Given the description of an element on the screen output the (x, y) to click on. 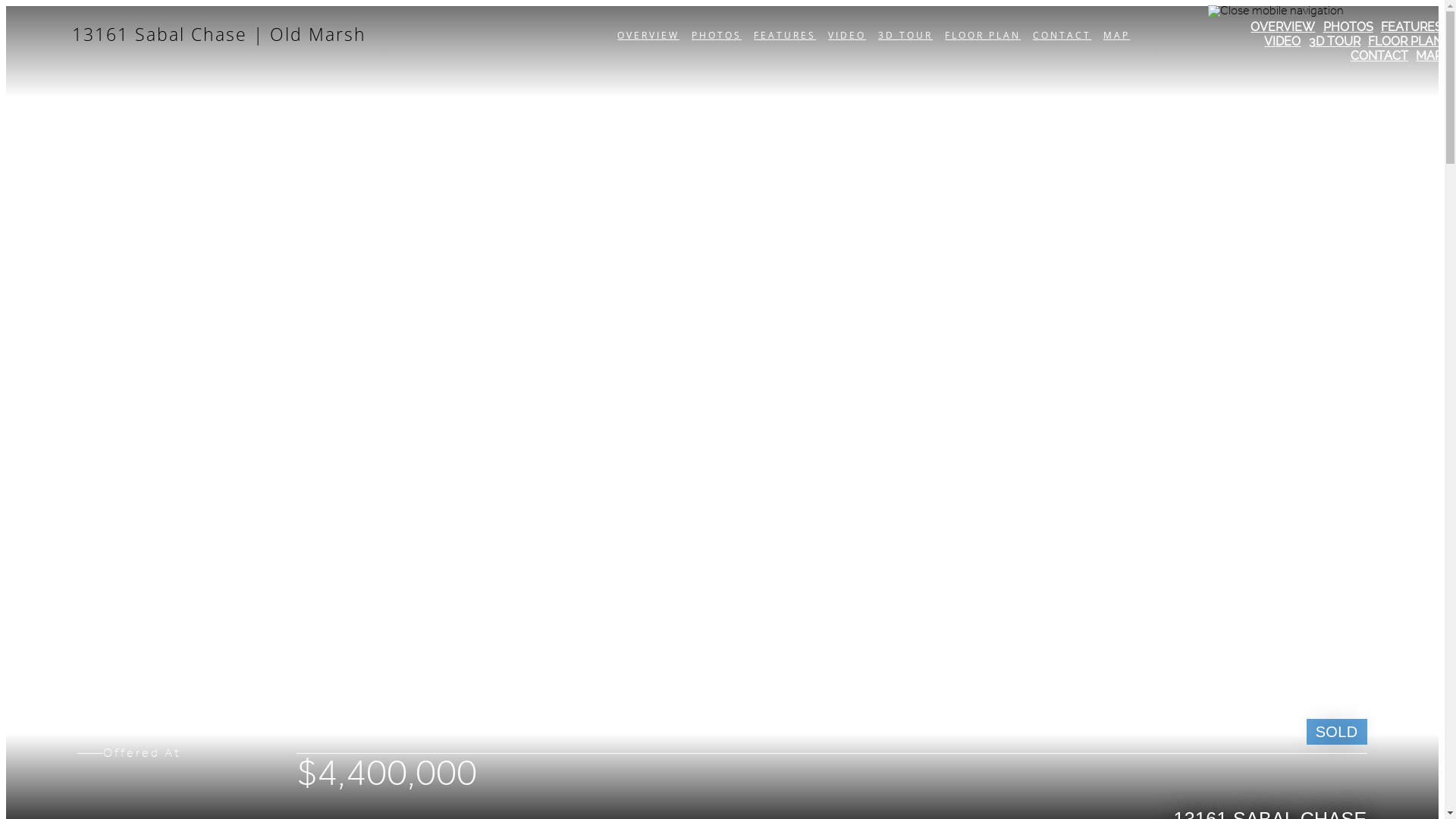
FEATURES Element type: text (784, 34)
VIDEO Element type: text (847, 34)
VIDEO Element type: text (1282, 41)
FEATURES Element type: text (1411, 26)
CONTACT Element type: text (1061, 34)
PHOTOS Element type: text (1348, 26)
OVERVIEW Element type: text (1282, 26)
PHOTOS Element type: text (716, 34)
3D TOUR Element type: text (1334, 41)
MAP Element type: text (1116, 34)
MAP Element type: text (1428, 55)
3D TOUR Element type: text (905, 34)
CONTACT Element type: text (1379, 55)
FLOOR PLAN Element type: text (1405, 41)
FLOOR PLAN Element type: text (982, 34)
OVERVIEW Element type: text (648, 34)
